Given the description of an element on the screen output the (x, y) to click on. 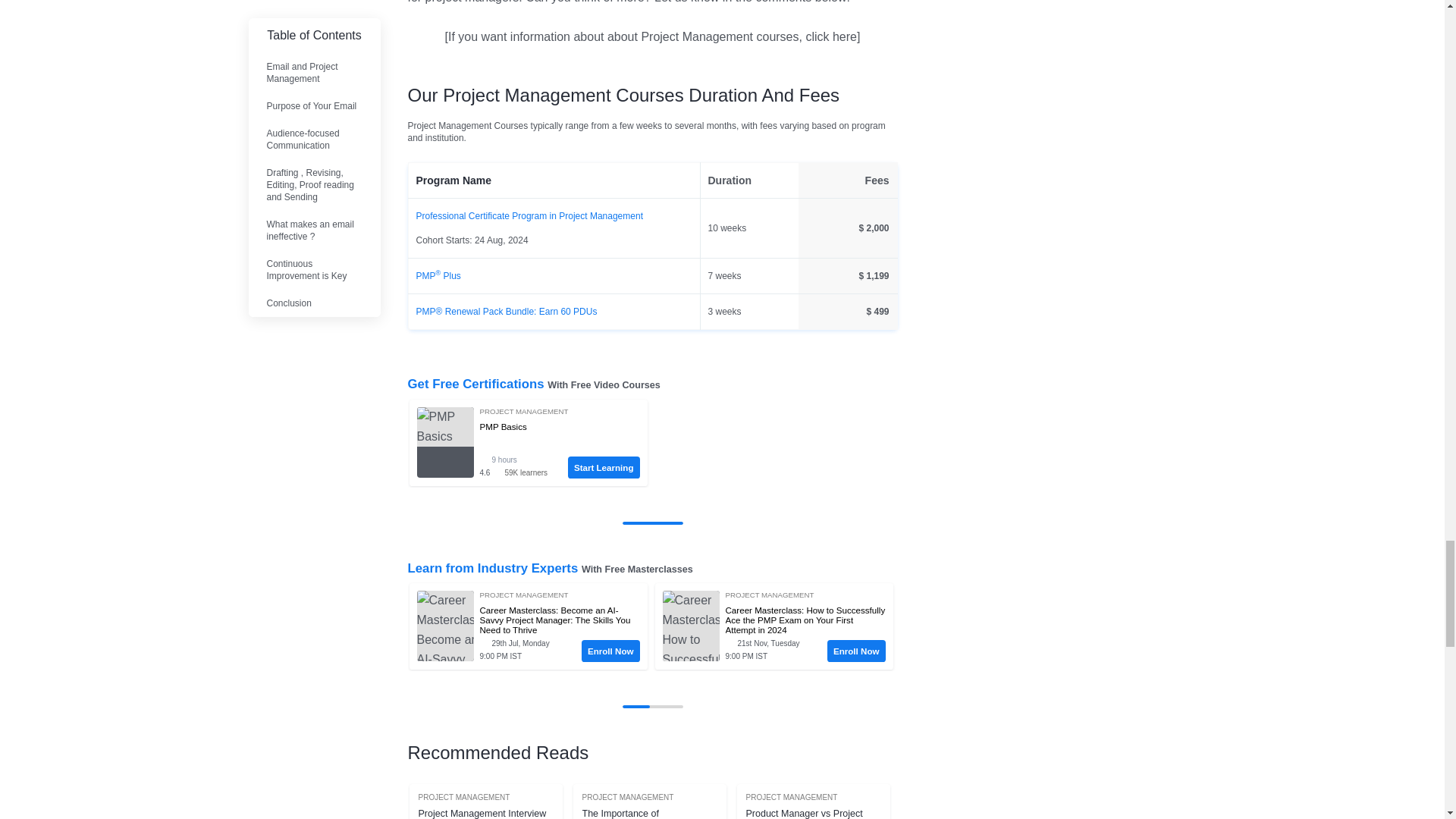
Date (775, 643)
Date (529, 643)
Duration (521, 460)
